Given the description of an element on the screen output the (x, y) to click on. 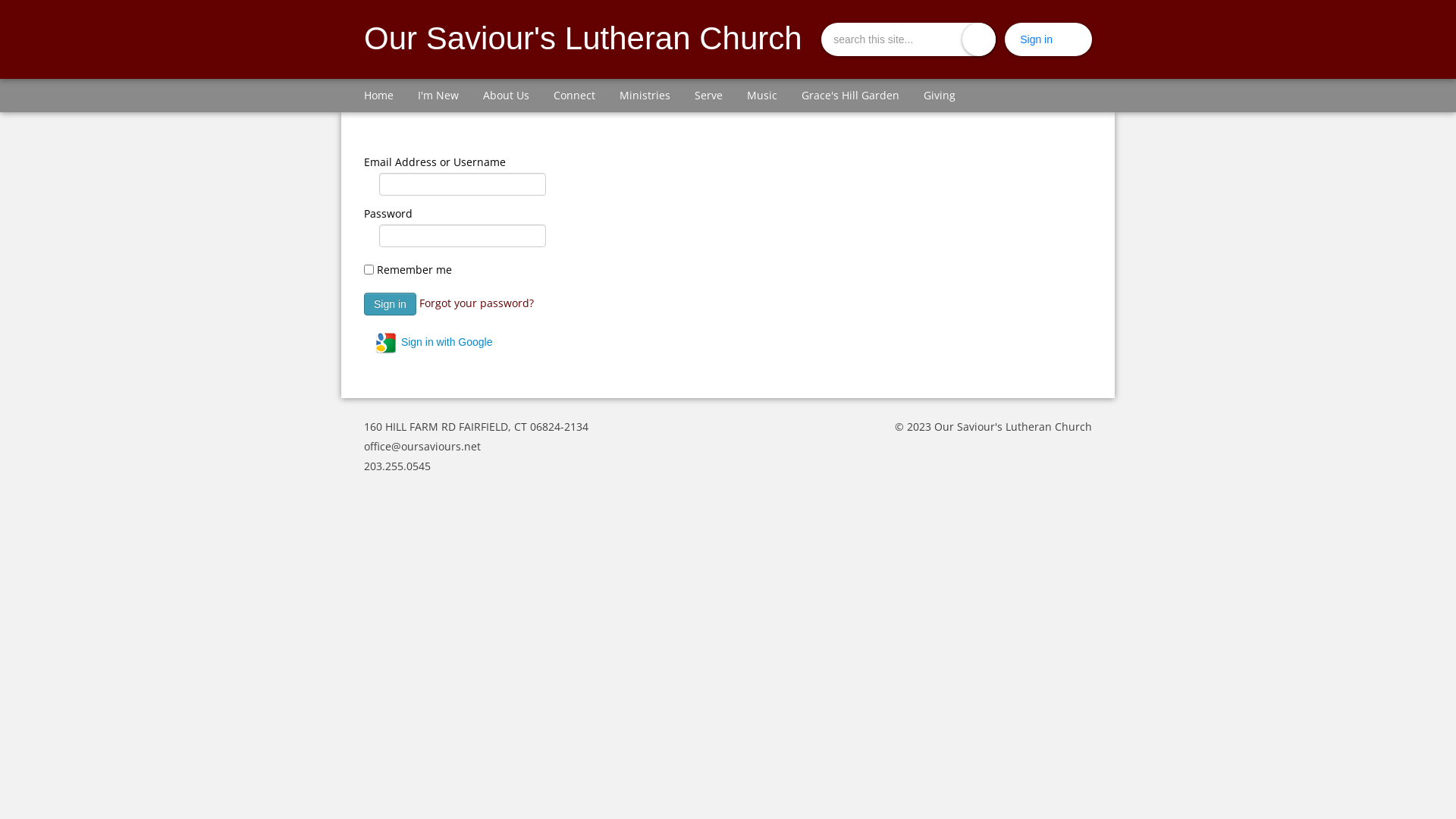
Home Element type: text (378, 94)
Sign in with Google Element type: text (433, 342)
Giving Element type: text (939, 94)
Forgot your password? Element type: text (476, 301)
Sign in Element type: text (390, 303)
160 HILL FARM RD FAIRFIELD, CT 06824-2134 Element type: text (476, 426)
Sign in Element type: text (1035, 39)
office@oursaviours.net Element type: text (422, 446)
